Given the description of an element on the screen output the (x, y) to click on. 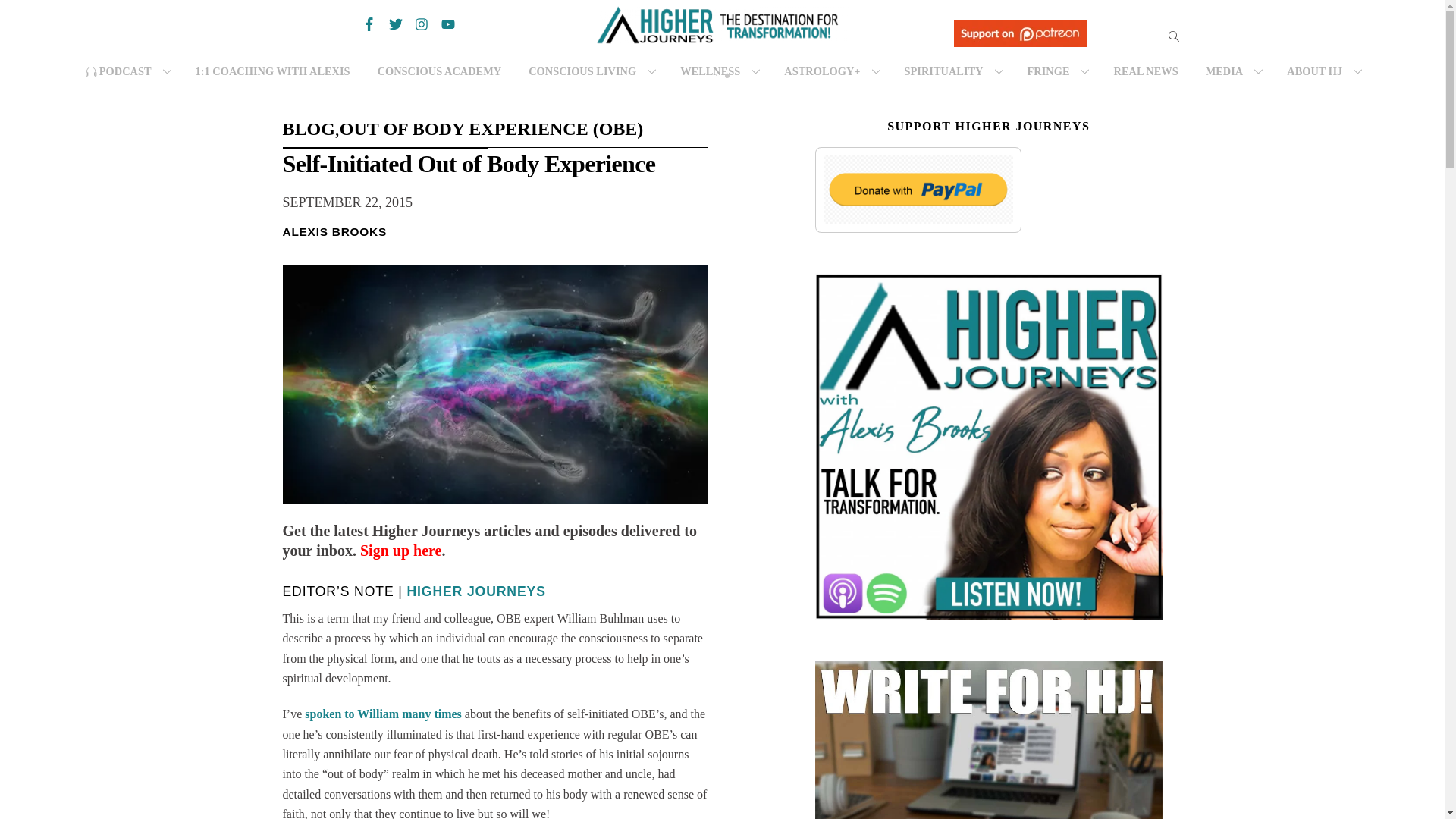
CONSCIOUS LIVING (590, 71)
SPIRITUALITY (952, 71)
PODCAST (126, 71)
OBEimage2 (494, 384)
HJWEBPAGELOGOwSLUG2 (721, 24)
CONSCIOUS ACADEMY (439, 71)
PayPal - The safer, easier way to pay online! (918, 189)
WELLNESS (718, 71)
1:1 COACHING WITH ALEXIS (273, 71)
